Given the description of an element on the screen output the (x, y) to click on. 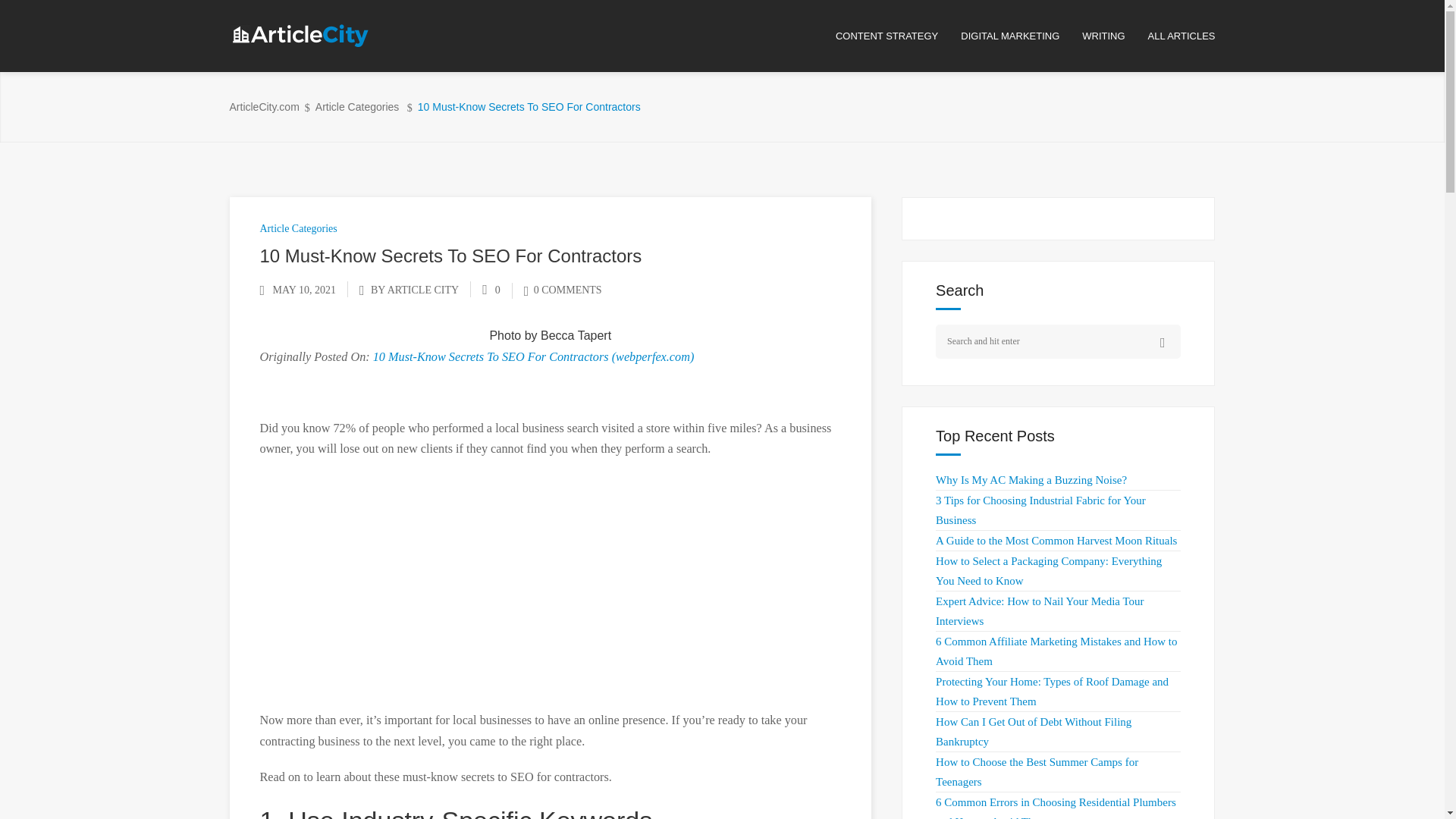
0 (490, 289)
Photo (505, 335)
BY ARTICLE CITY (414, 289)
How to Choose the Best Summer Camps for Teenagers (1037, 771)
A Guide to the Most Common Harvest Moon Rituals (1056, 540)
3 Tips for Choosing Industrial Fabric for Your Business (1040, 510)
Article Categories (297, 228)
Article Categories (356, 107)
Why Is My AC Making a Buzzing Noise? (1031, 480)
CONTENT STRATEGY (897, 36)
